Given the description of an element on the screen output the (x, y) to click on. 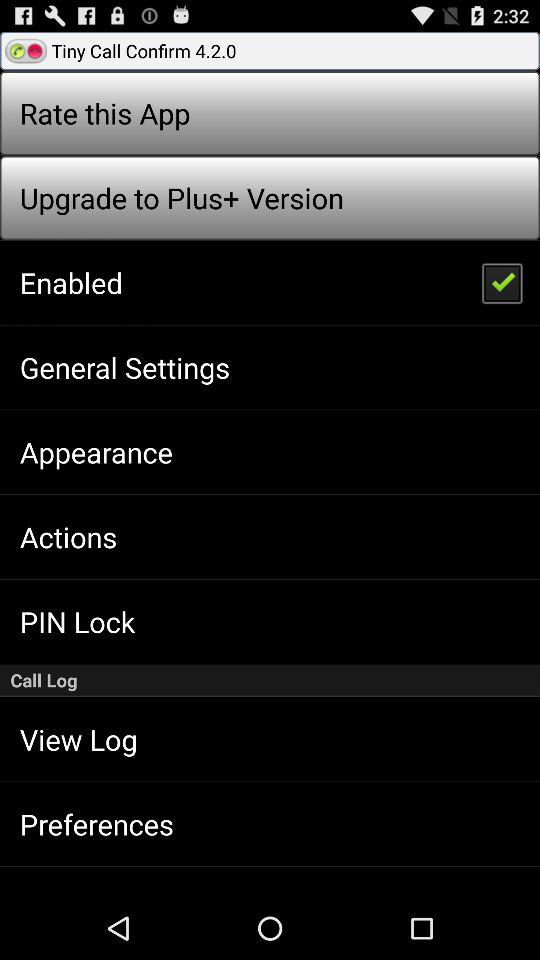
turn on app below the call log app (78, 739)
